Given the description of an element on the screen output the (x, y) to click on. 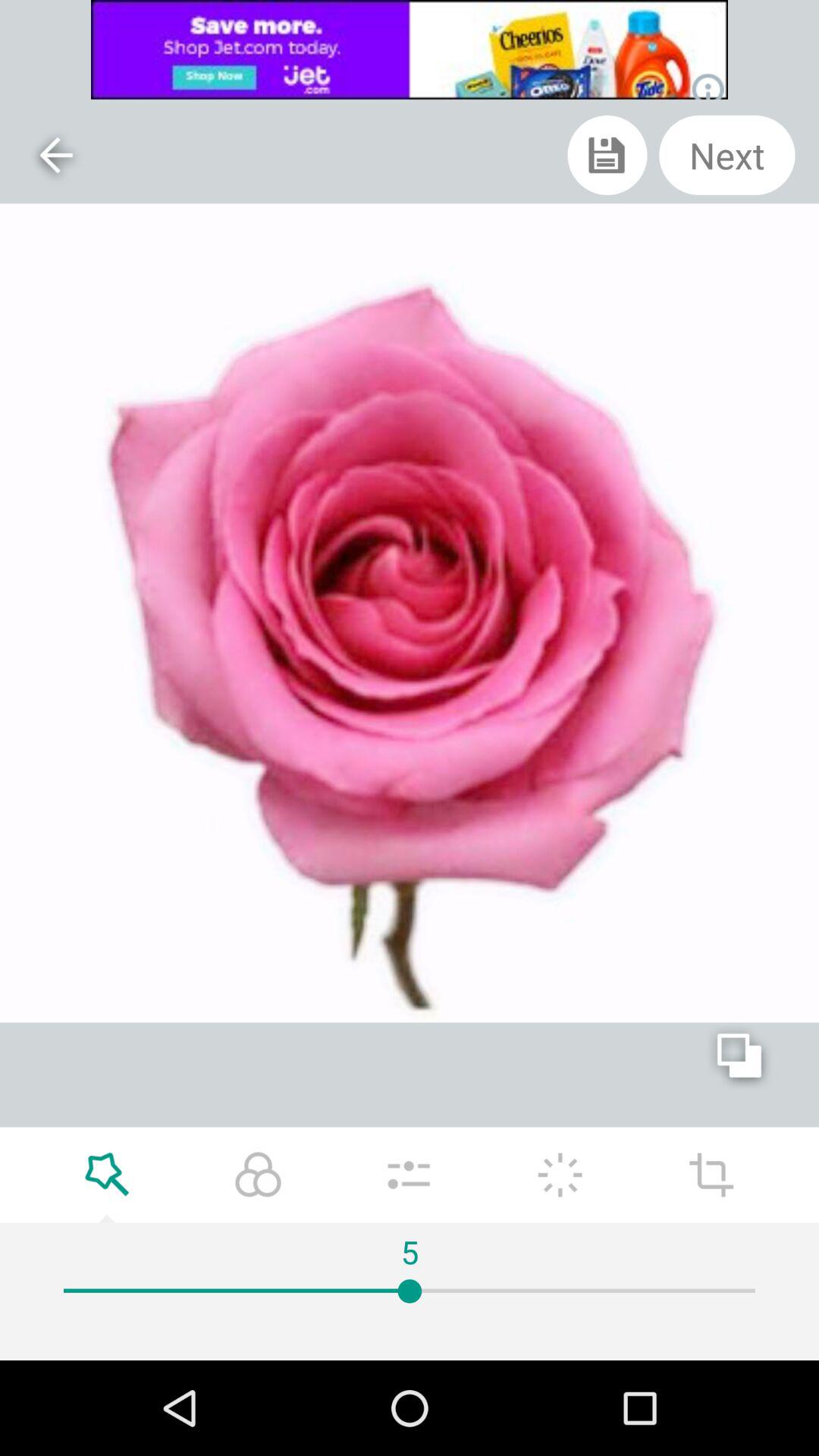
go to advertisement (409, 49)
